Given the description of an element on the screen output the (x, y) to click on. 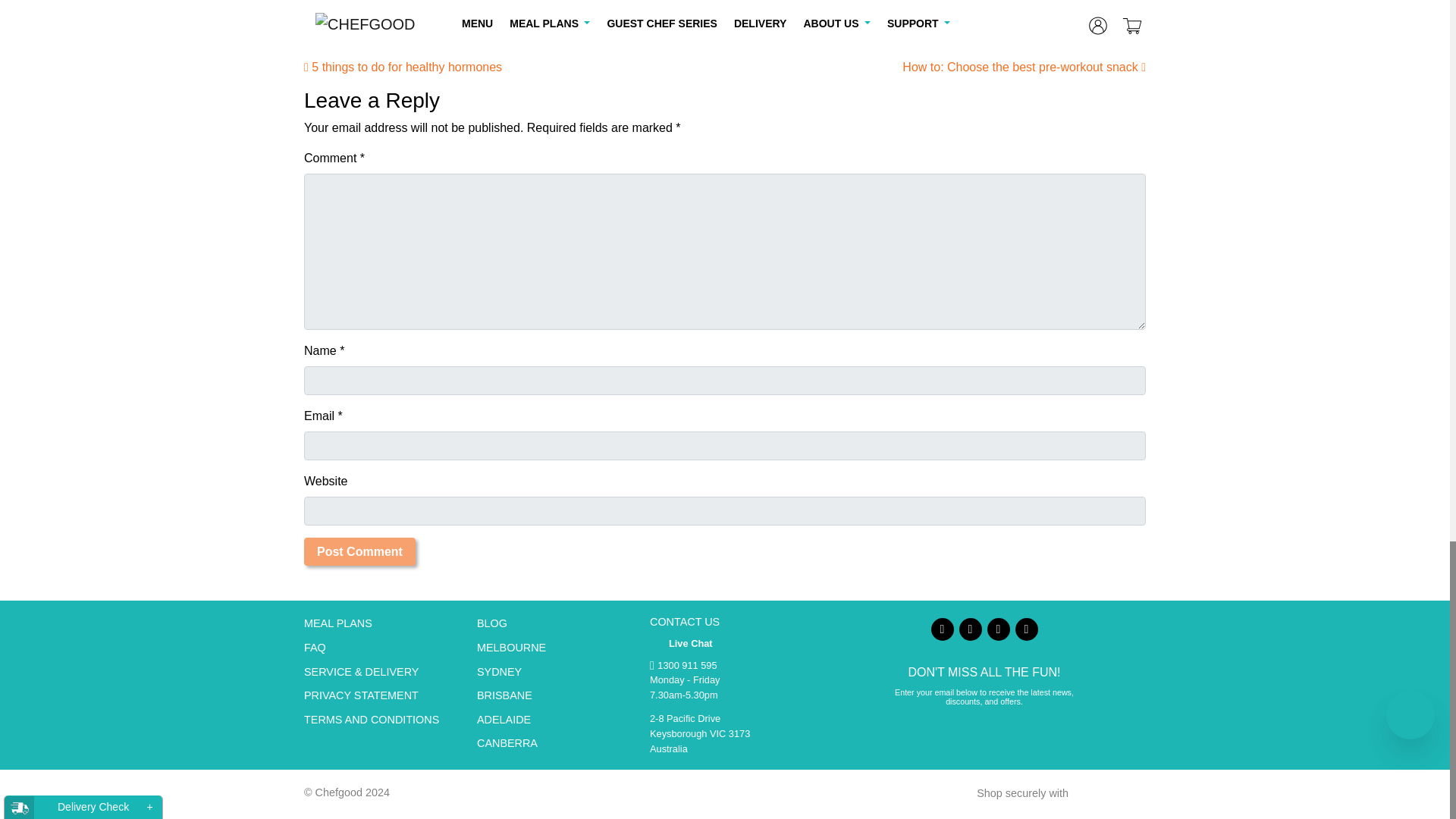
Post Comment (359, 551)
